Given the description of an element on the screen output the (x, y) to click on. 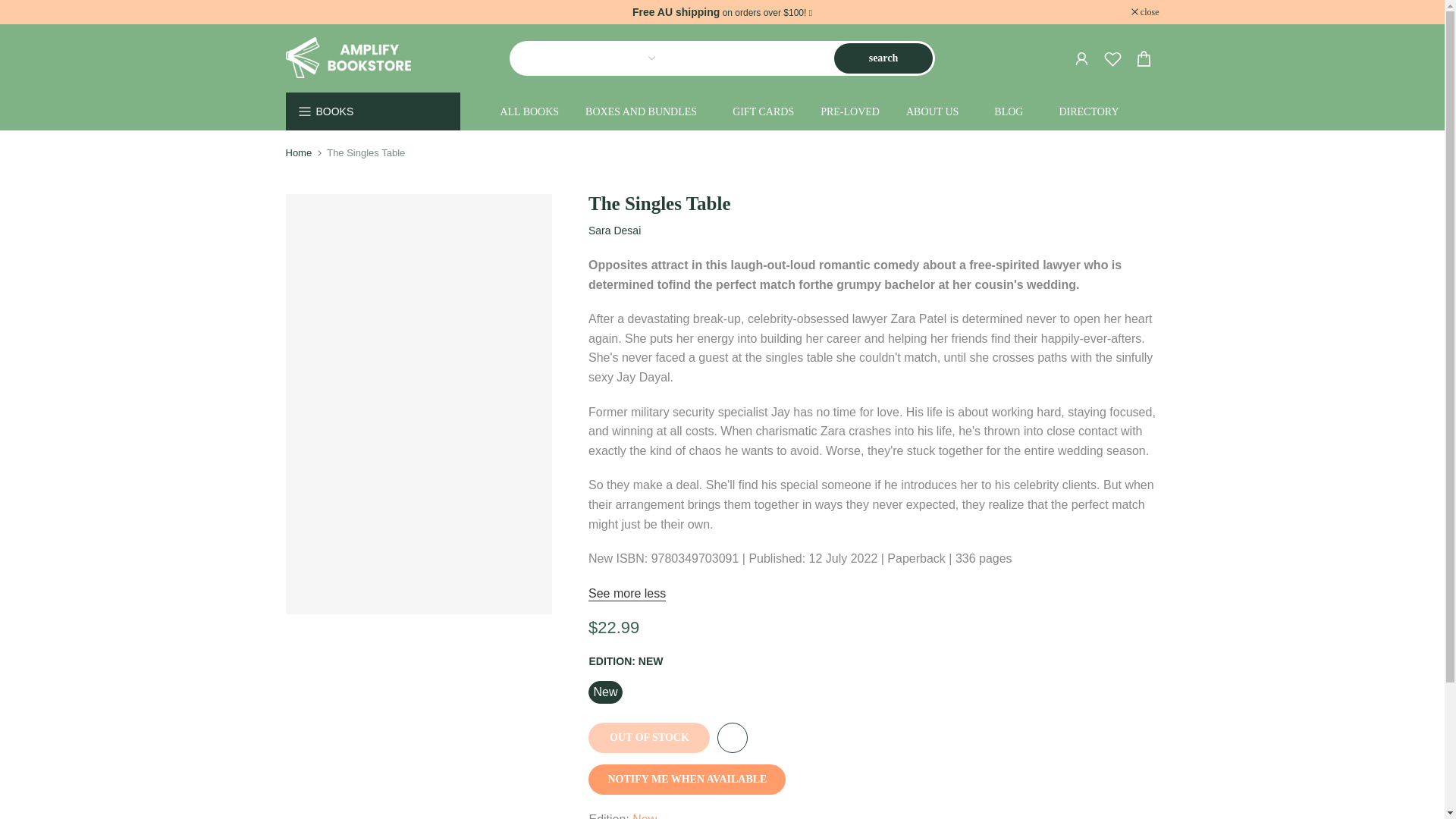
BOXES AND BUNDLES (645, 112)
Skip to content (10, 7)
OUT OF STOCK (649, 737)
Sara Desai (614, 230)
search (883, 58)
DIRECTORY (1088, 112)
close (1144, 11)
See more less (626, 594)
BLOG (1013, 112)
ALL BOOKS (529, 112)
